Given the description of an element on the screen output the (x, y) to click on. 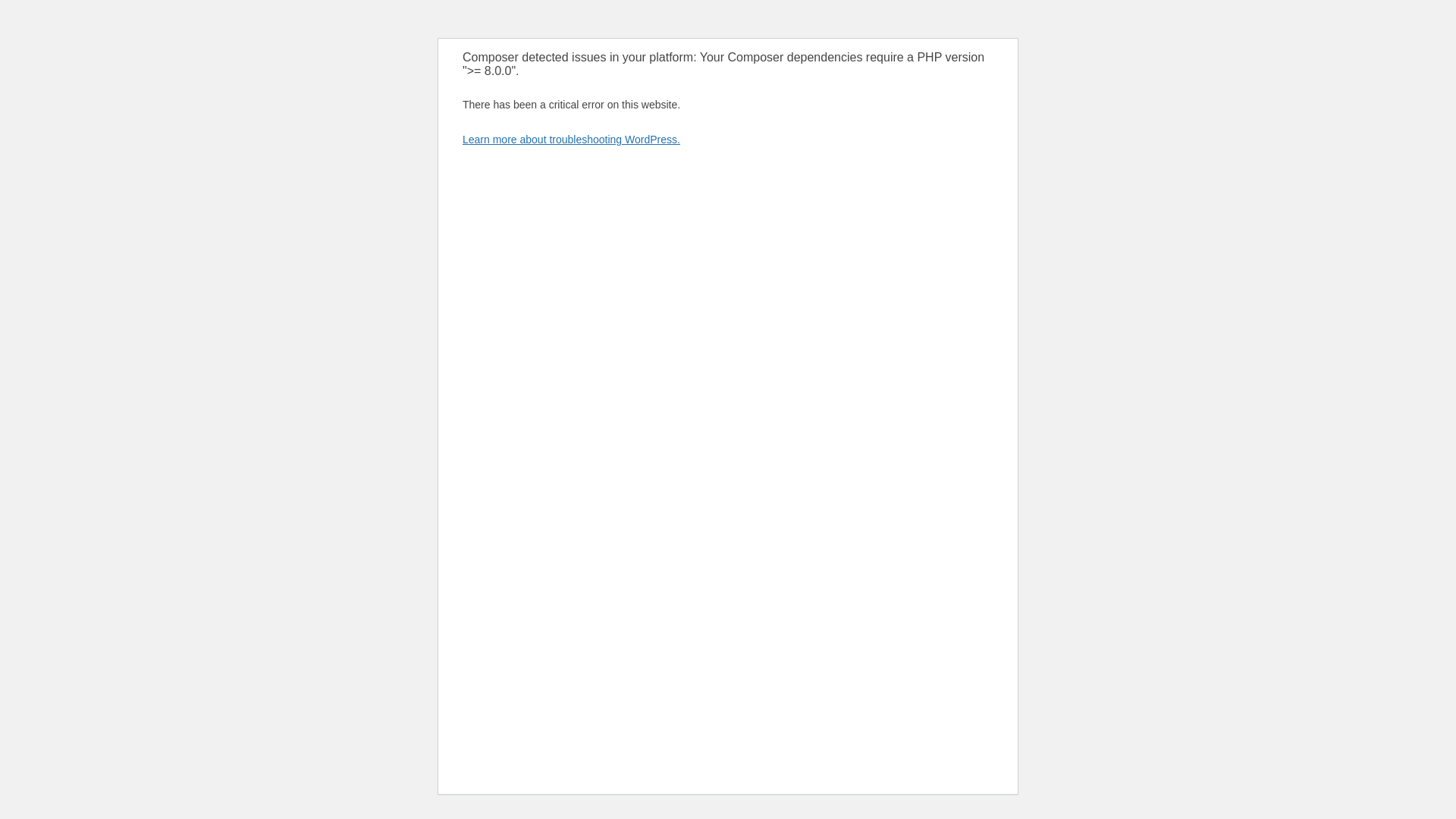
Learn more about troubleshooting WordPress. (571, 139)
